Given the description of an element on the screen output the (x, y) to click on. 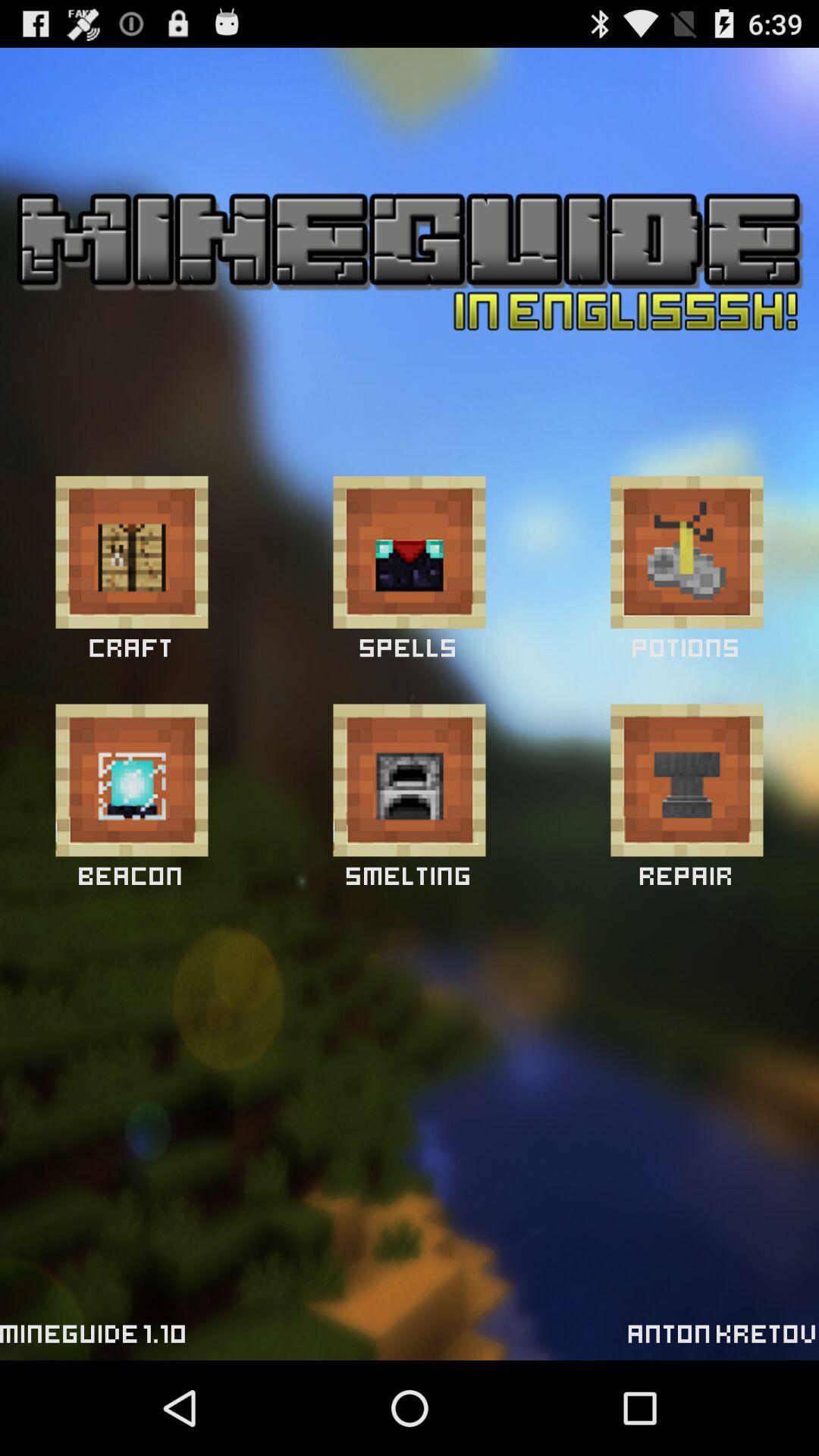
link to smelting information (409, 780)
